Given the description of an element on the screen output the (x, y) to click on. 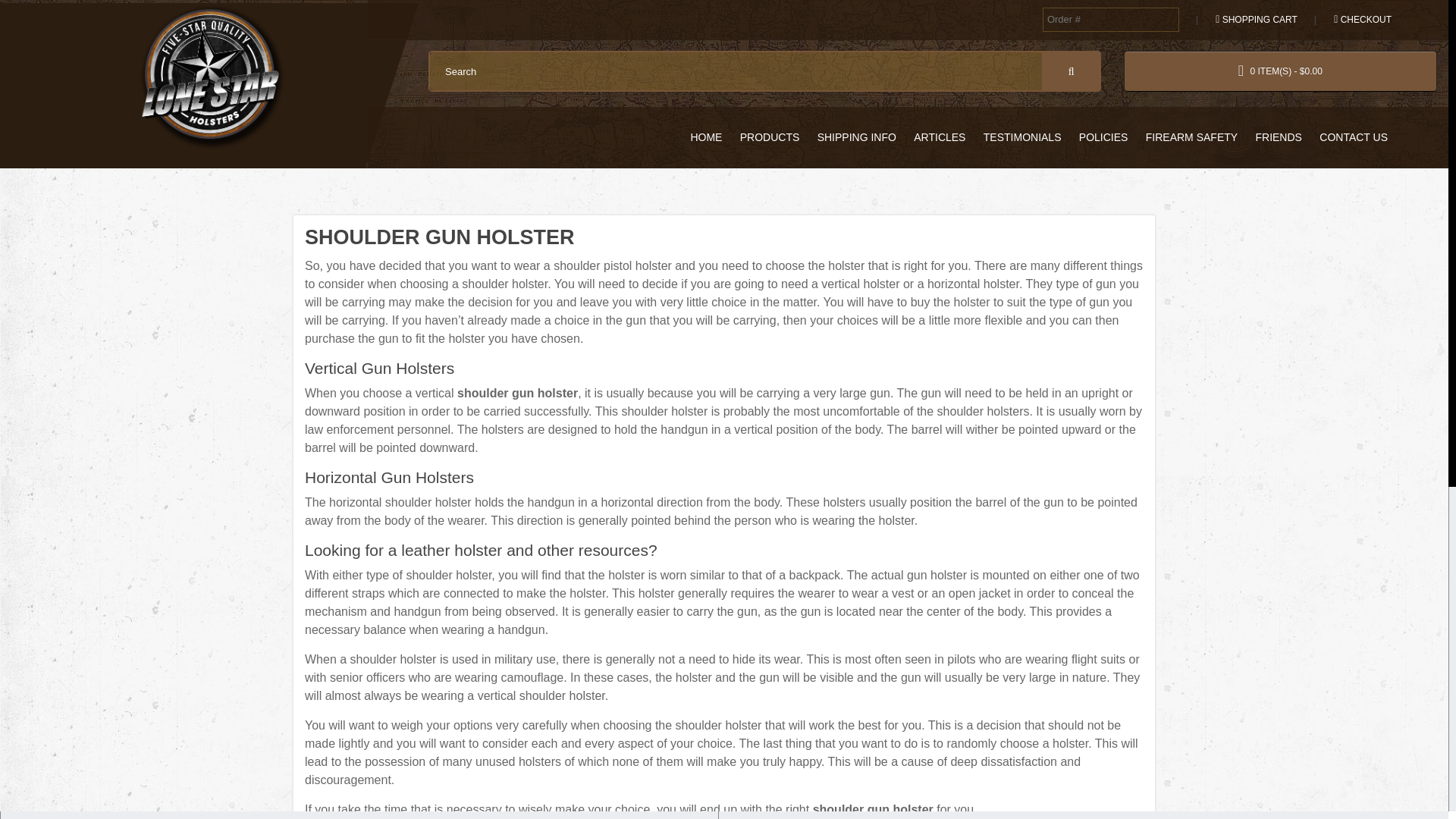
CHECKOUT (1358, 19)
SHIPPING INFO (856, 136)
CONTACT US (1352, 136)
POLICIES (1103, 136)
TESTIMONIALS (1021, 136)
FIREARM SAFETY (1191, 136)
Shopping Cart (1252, 19)
FRIENDS (1277, 136)
ARTICLES (938, 136)
PRODUCTS (770, 136)
